Given the description of an element on the screen output the (x, y) to click on. 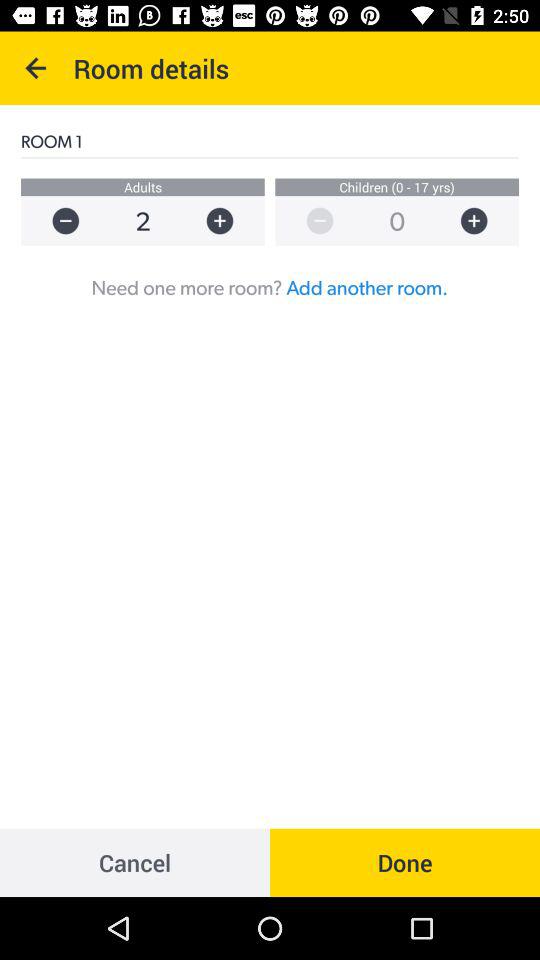
reduce number of children (310, 220)
